Given the description of an element on the screen output the (x, y) to click on. 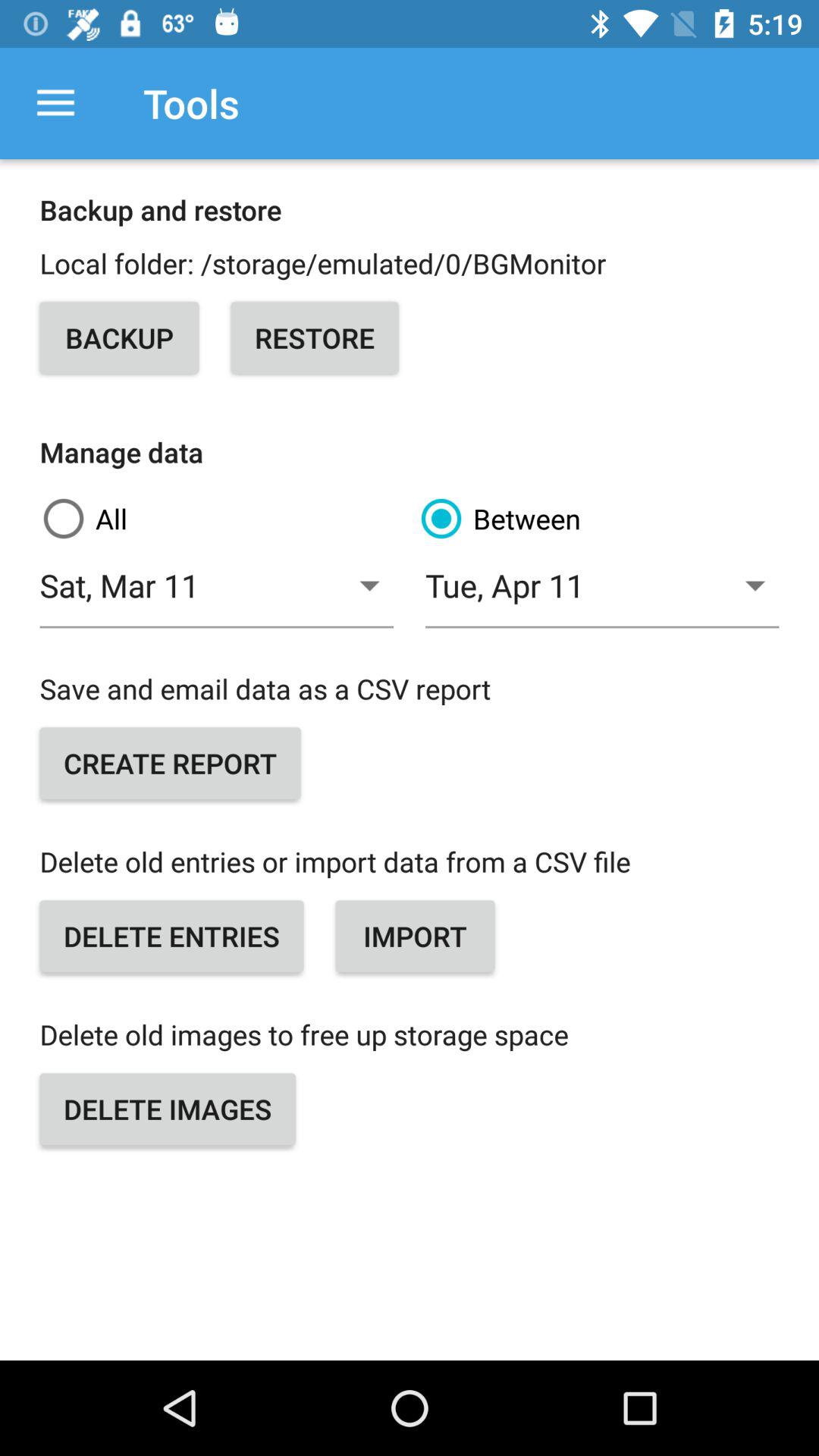
click the icon to the right of the all (598, 518)
